Given the description of an element on the screen output the (x, y) to click on. 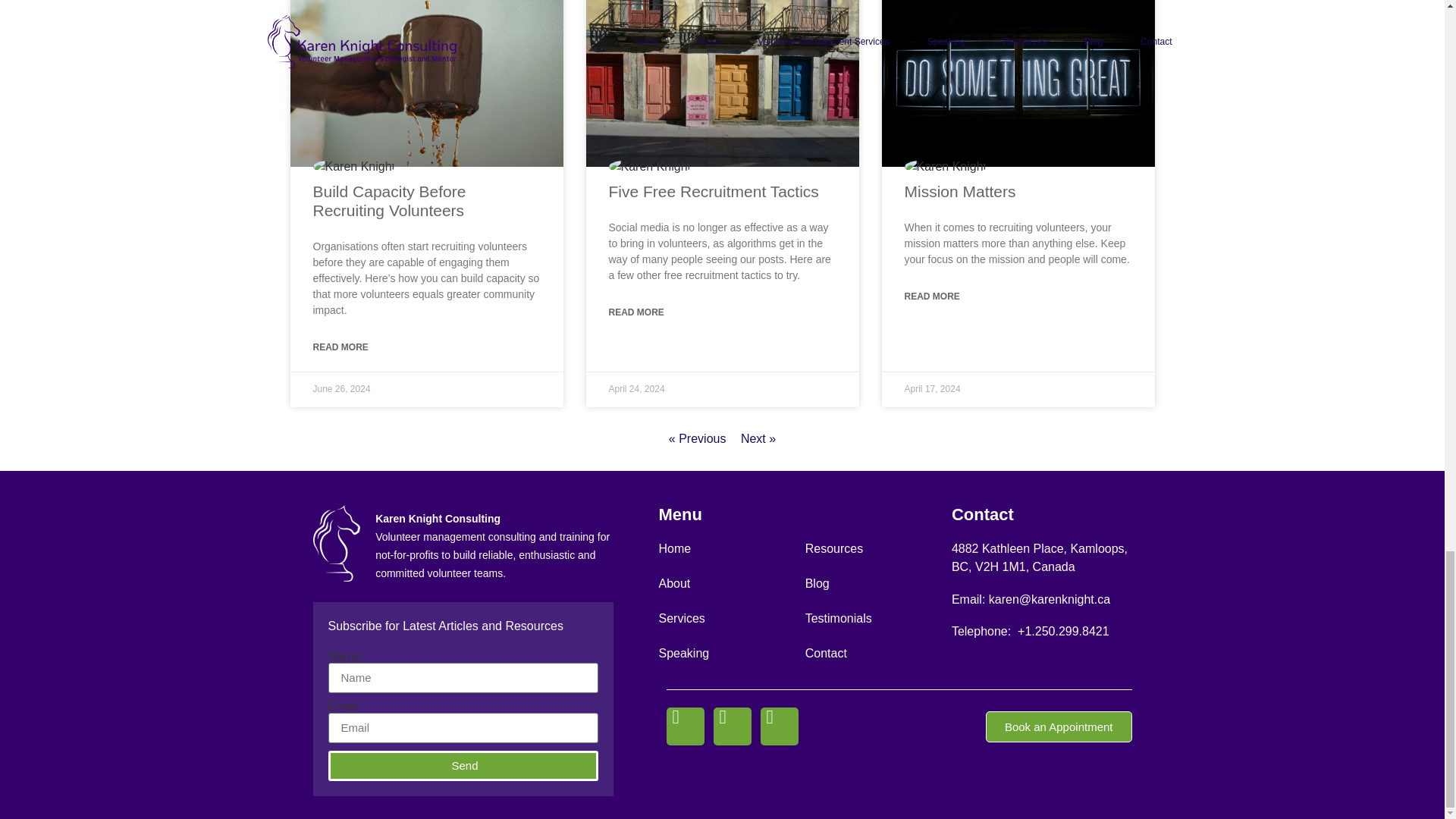
READ MORE (340, 347)
Build Capacity Before Recruiting Volunteers (389, 200)
